Given the description of an element on the screen output the (x, y) to click on. 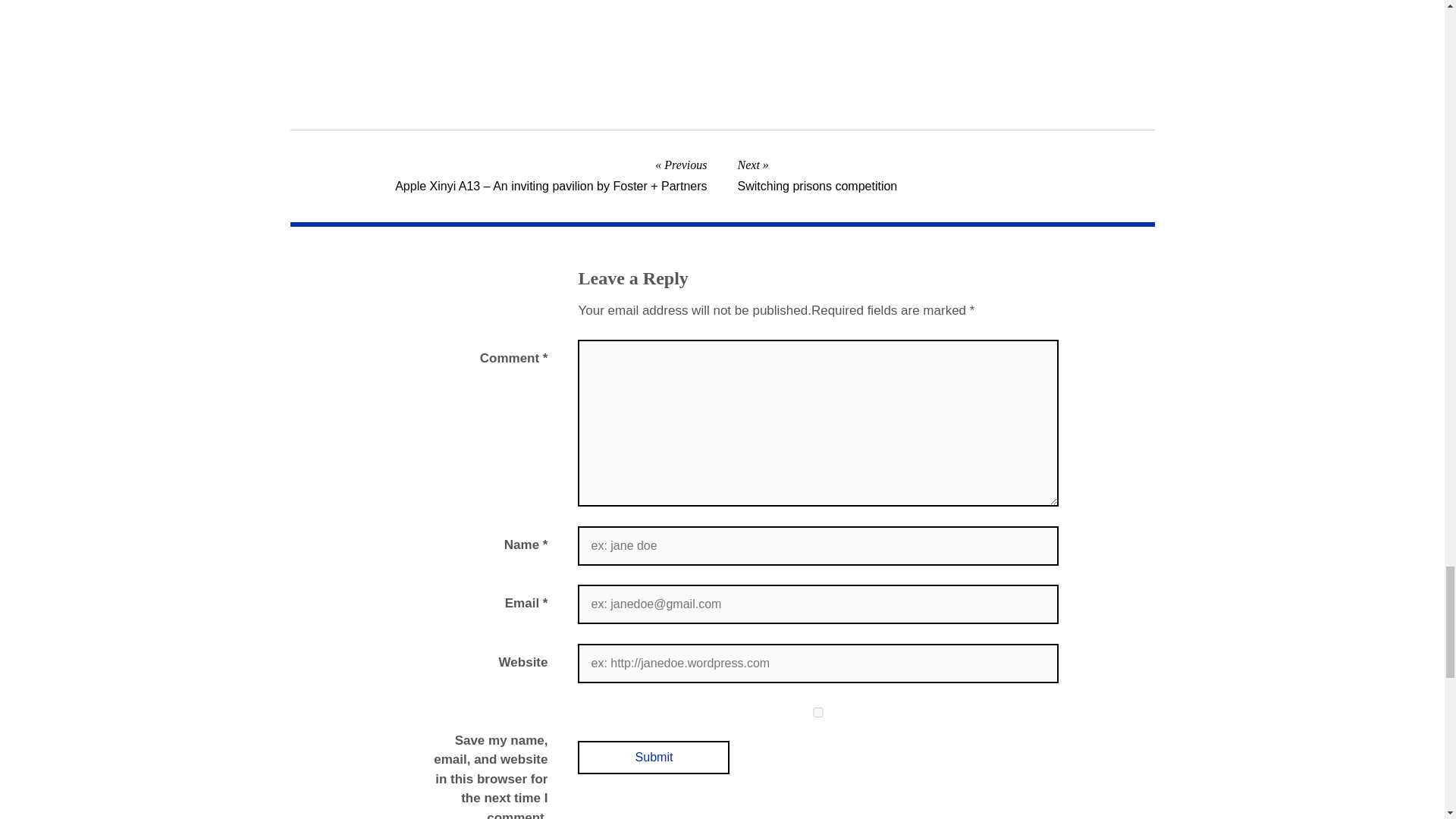
Submit (653, 757)
Submit (653, 757)
yes (945, 174)
